Given the description of an element on the screen output the (x, y) to click on. 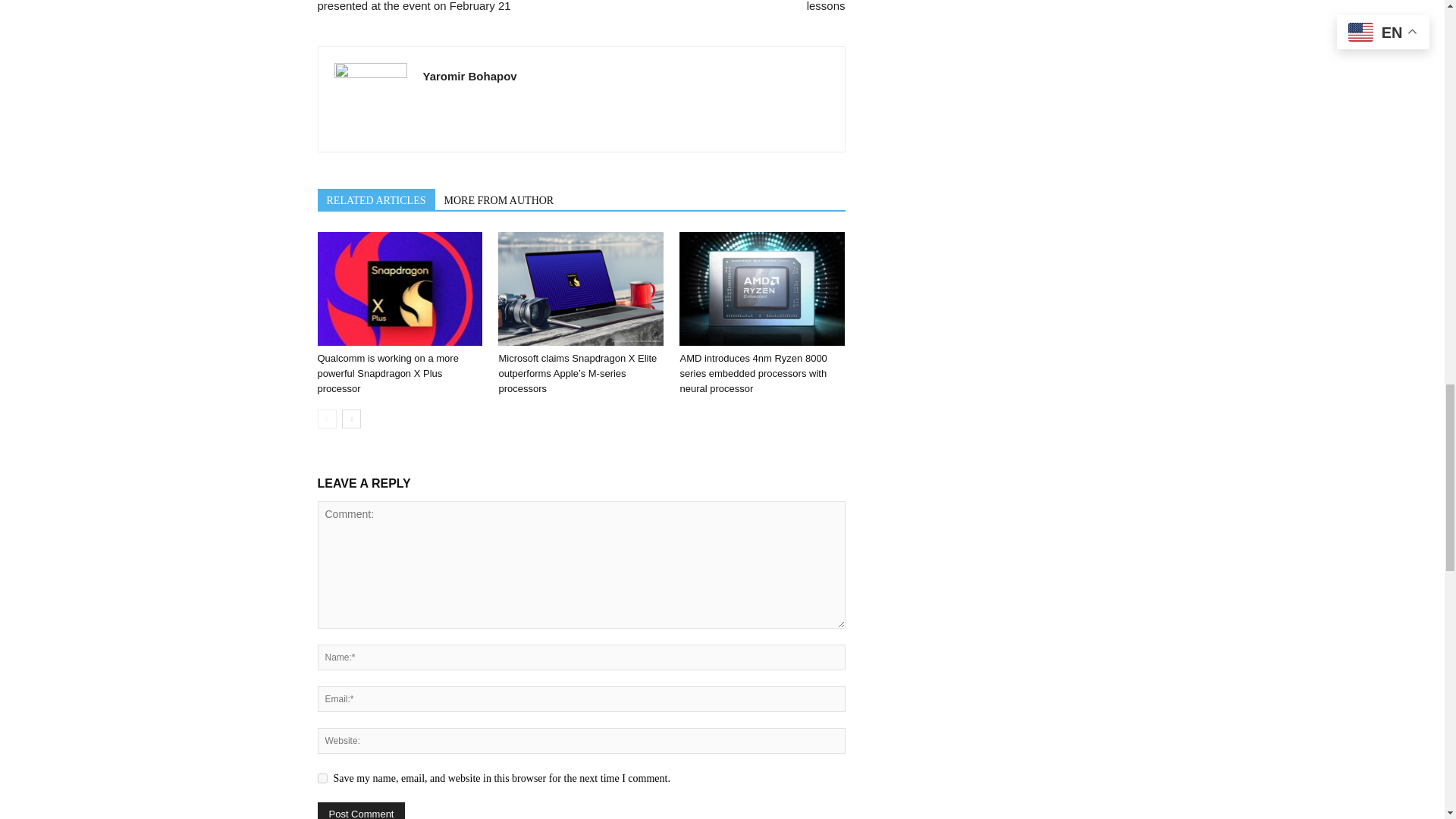
Post Comment (360, 810)
yes (321, 777)
